Given the description of an element on the screen output the (x, y) to click on. 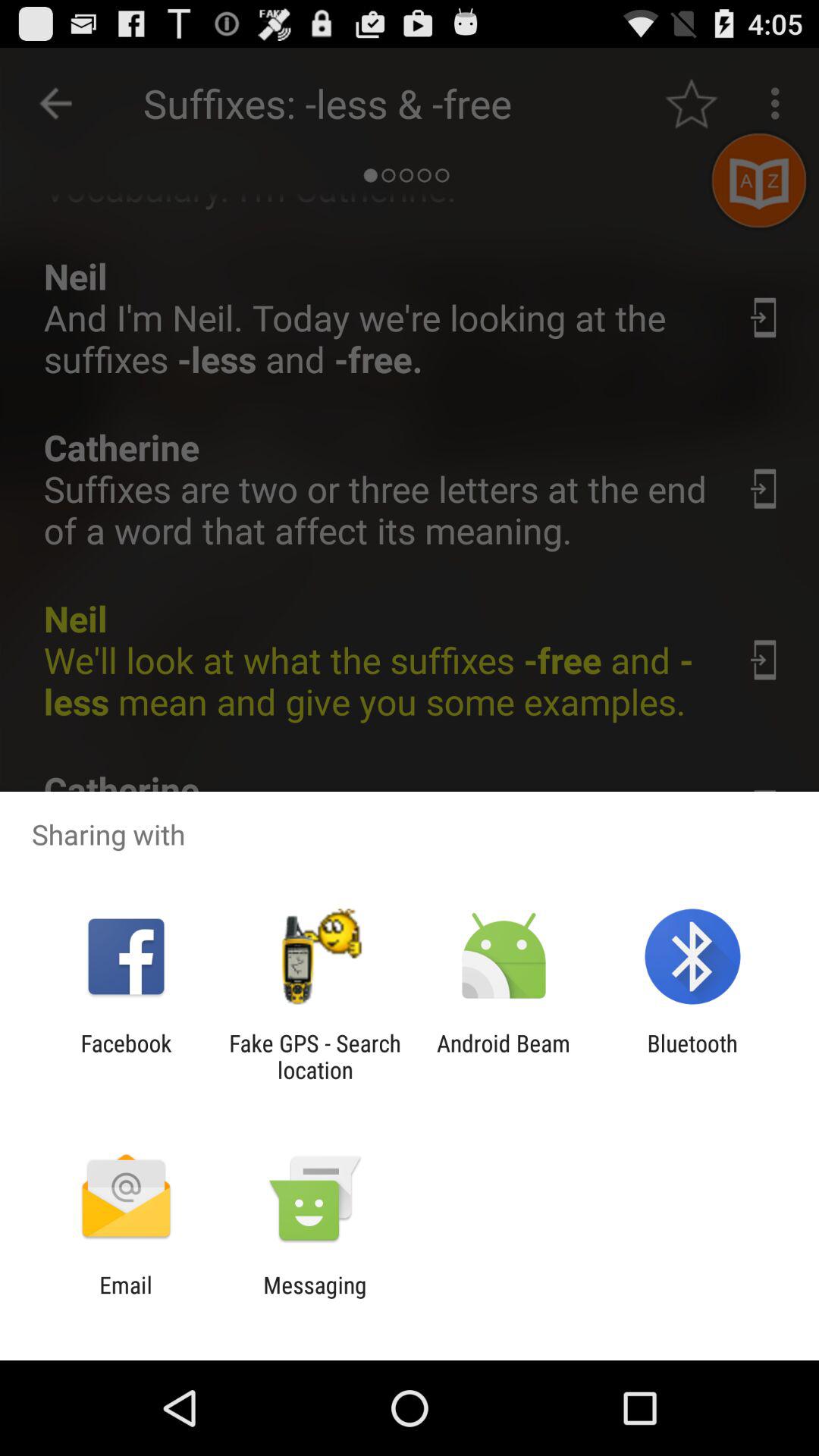
scroll to bluetooth (692, 1056)
